Given the description of an element on the screen output the (x, y) to click on. 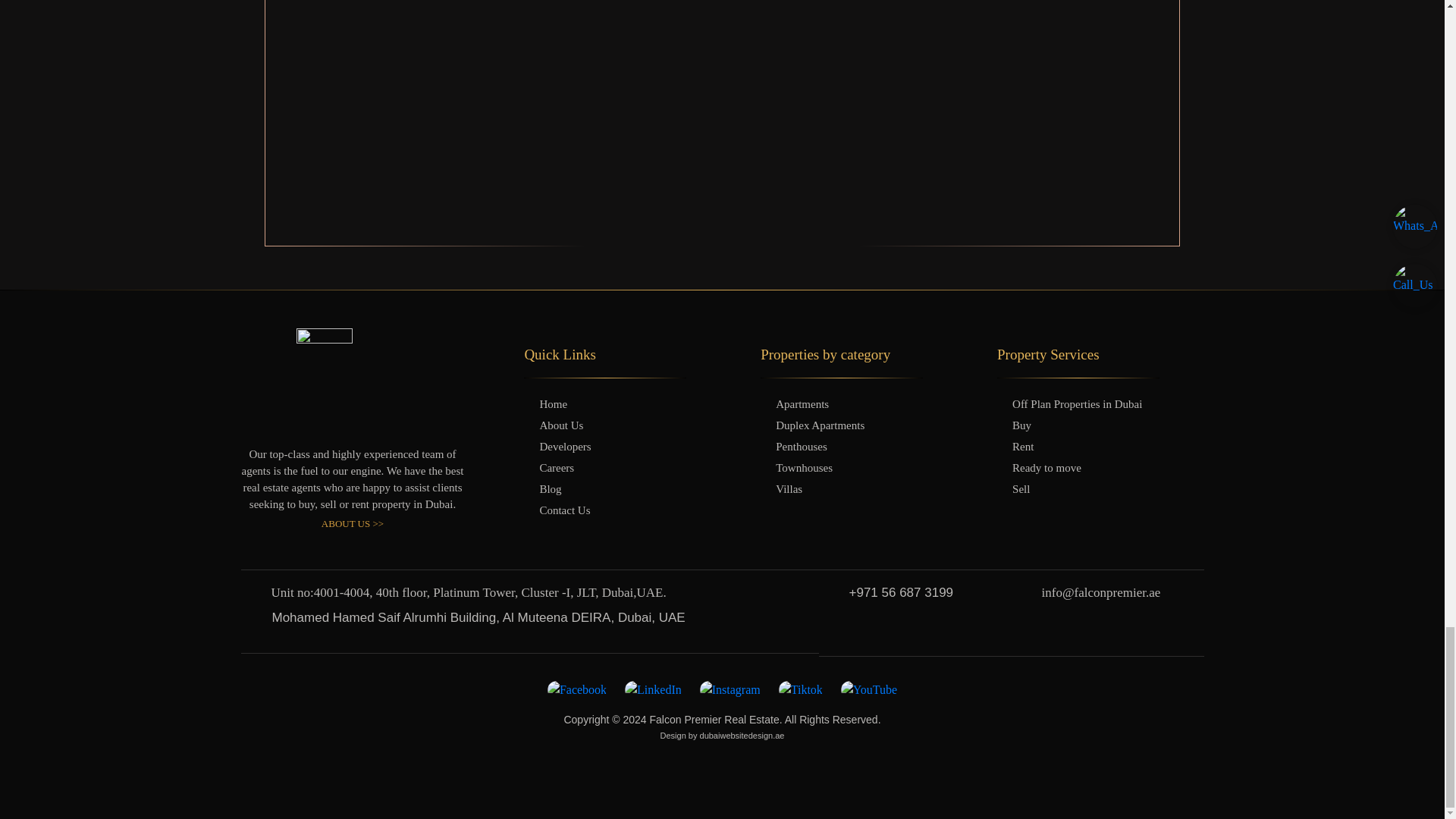
Tiktok (800, 689)
LinkedIn (652, 689)
YouTube (868, 689)
facebook (577, 689)
Instagram (730, 689)
